Given the description of an element on the screen output the (x, y) to click on. 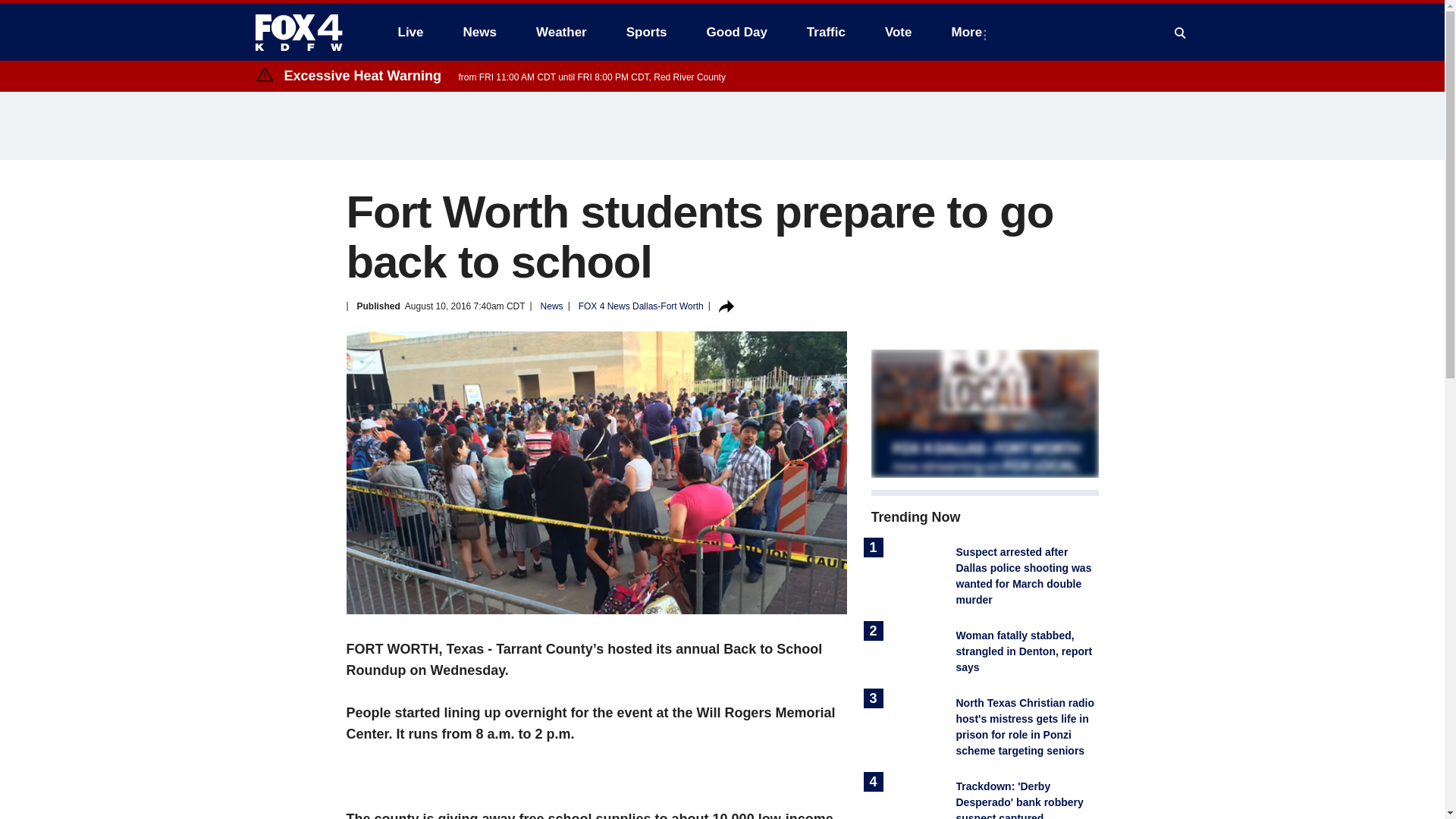
Live (410, 32)
More (969, 32)
Weather (561, 32)
News (479, 32)
Good Day (736, 32)
Traffic (825, 32)
Vote (898, 32)
Sports (646, 32)
